Given the description of an element on the screen output the (x, y) to click on. 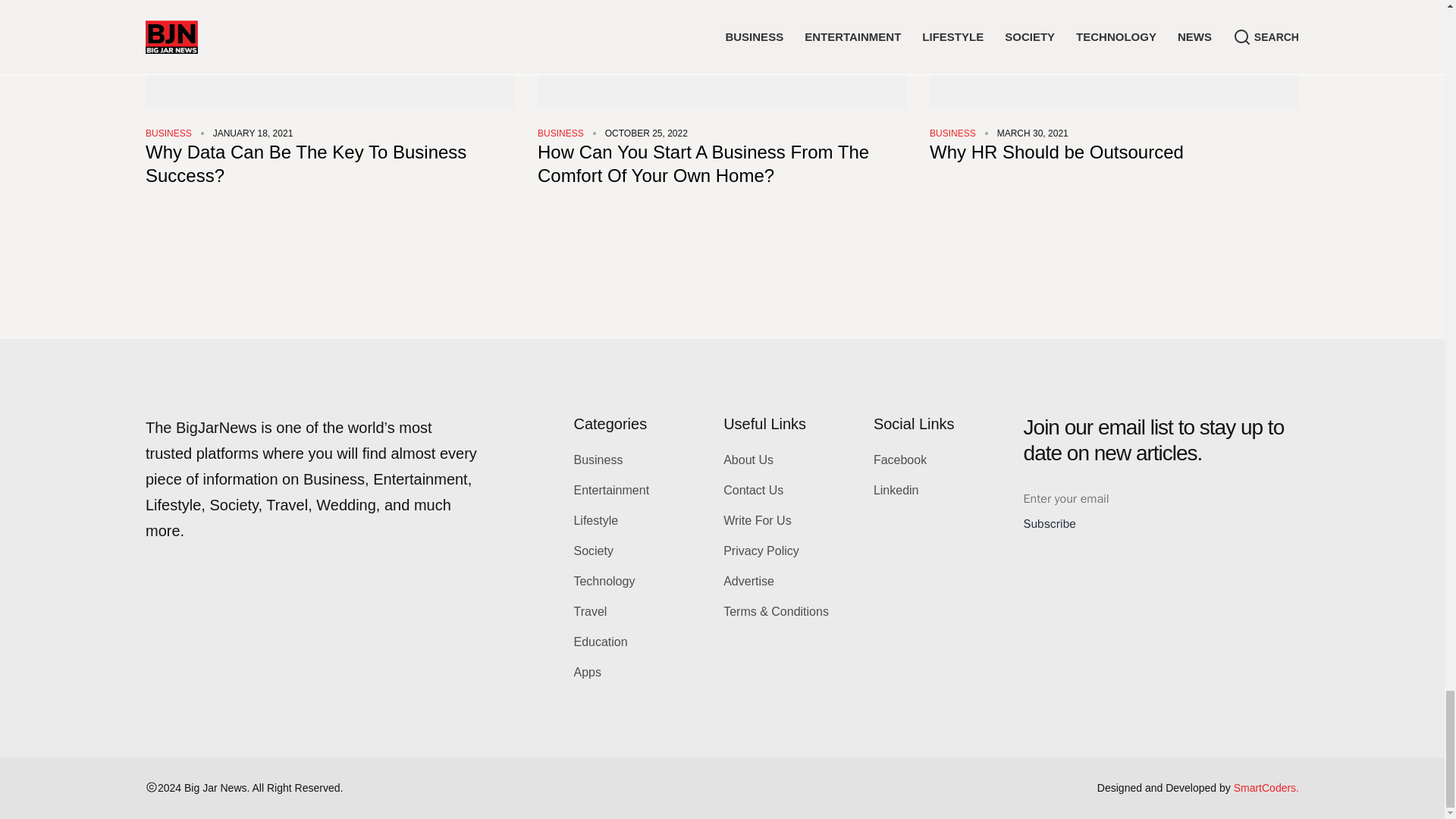
Business (952, 132)
Business (560, 132)
Business (168, 132)
Subscribe (1049, 524)
